Given the description of an element on the screen output the (x, y) to click on. 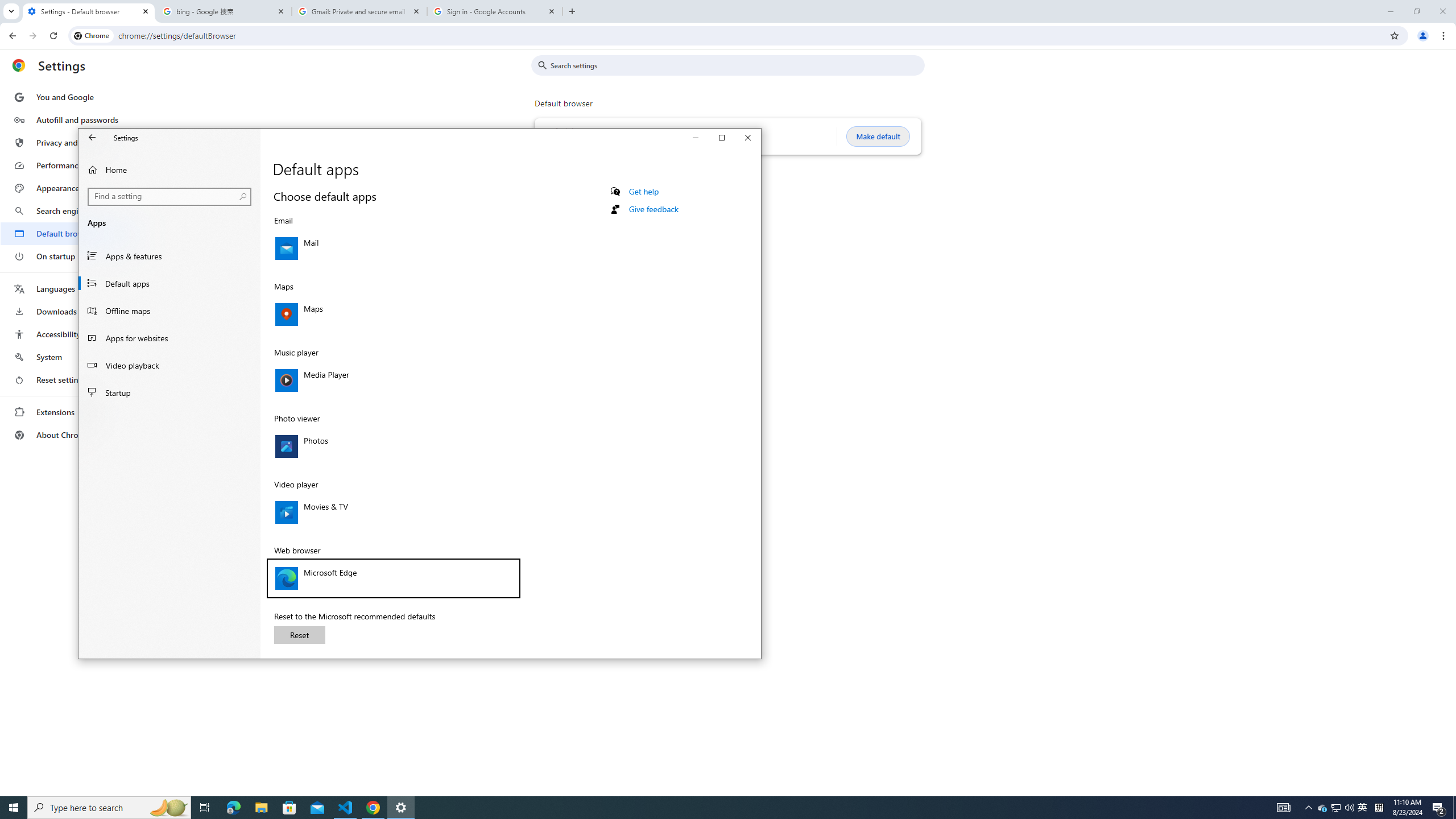
Notification Chevron (1308, 807)
Video playback (169, 364)
Search highlights icon opens search home window (167, 807)
Close Settings (748, 137)
Q2790: 100% (1349, 807)
